Given the description of an element on the screen output the (x, y) to click on. 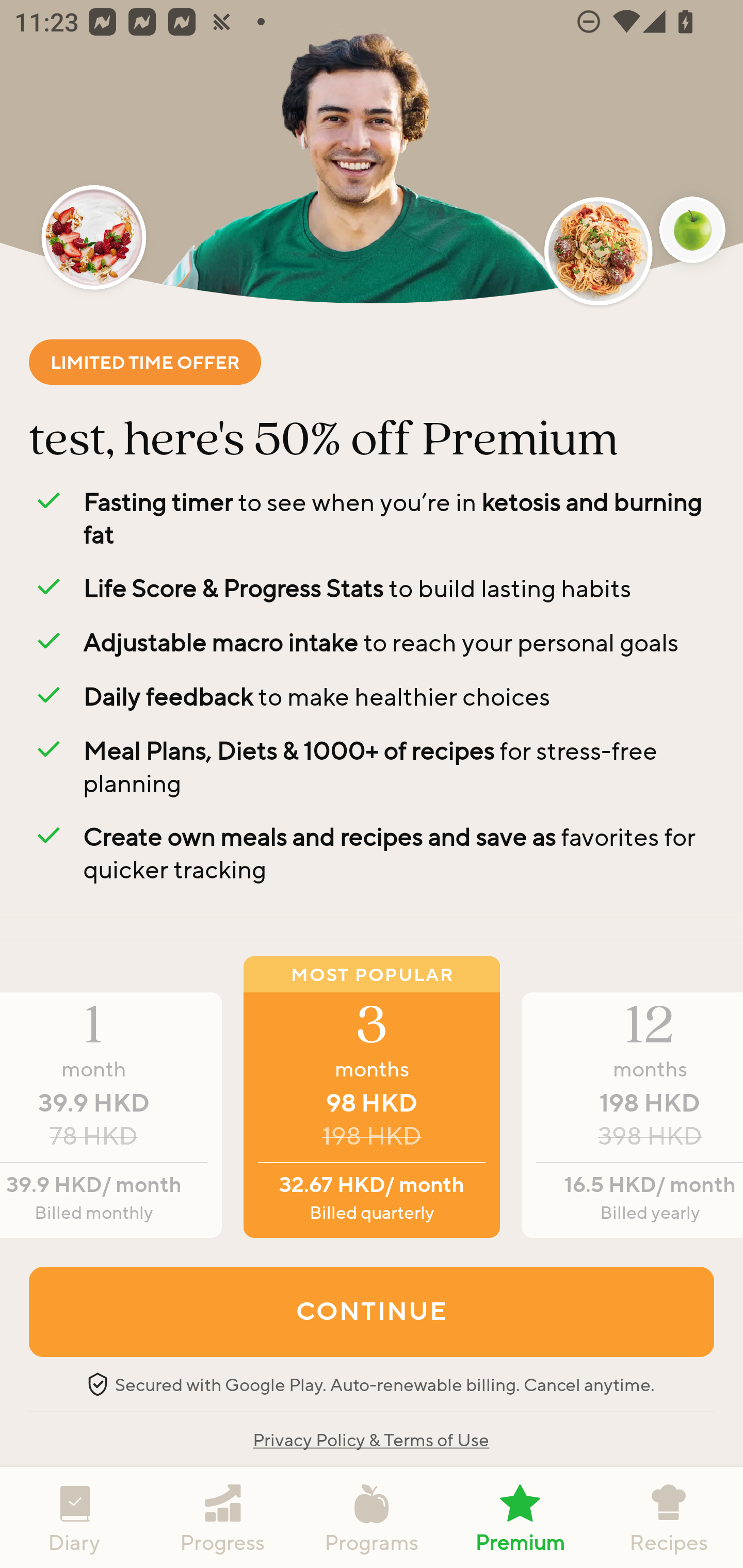
CONTINUE (371, 1311)
Privacy Policy & Terms of Use (370, 1438)
Diary (74, 1517)
Progress (222, 1517)
Programs (371, 1517)
Recipes (668, 1517)
